Given the description of an element on the screen output the (x, y) to click on. 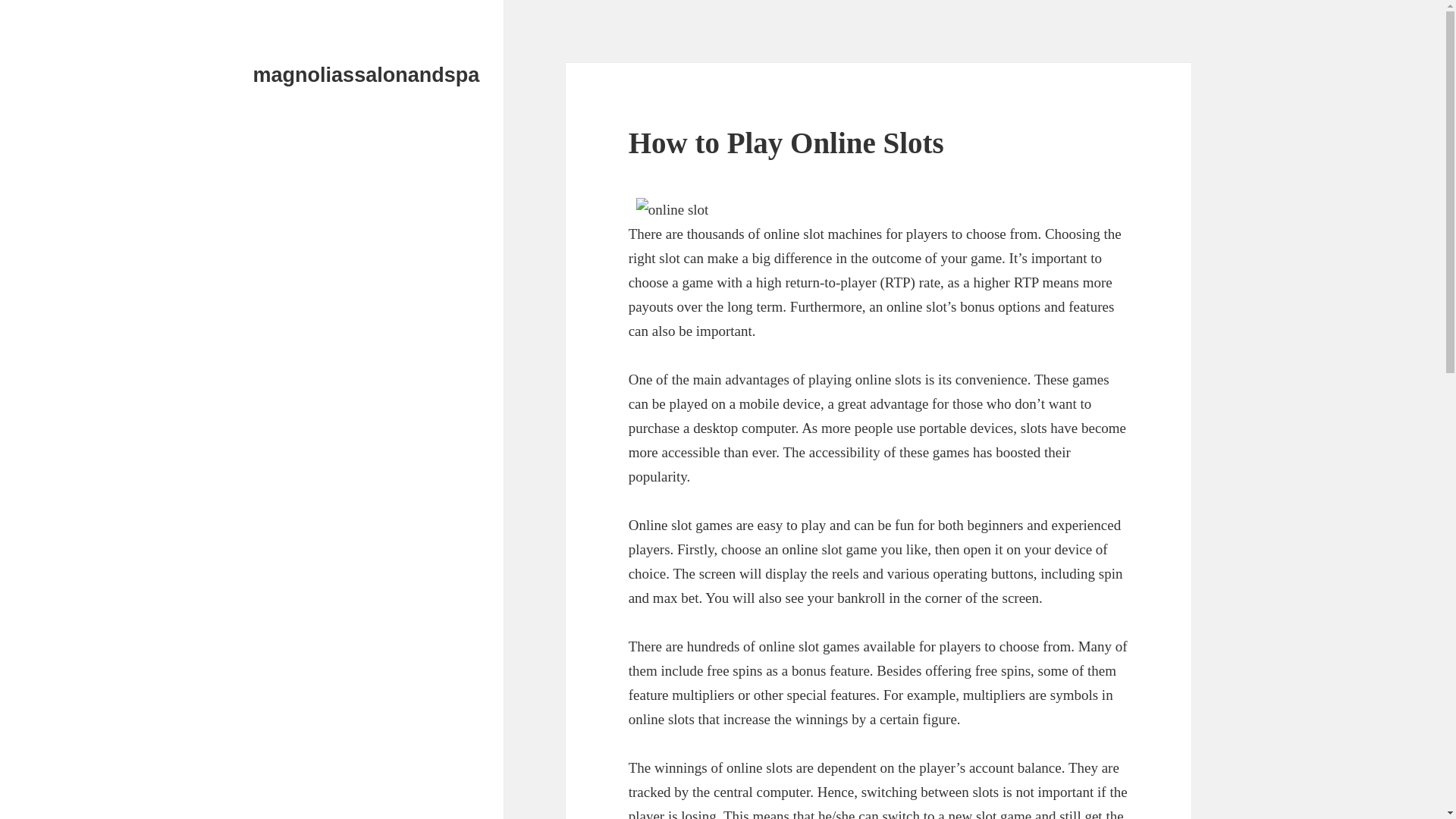
magnoliassalonandspa (366, 74)
